Given the description of an element on the screen output the (x, y) to click on. 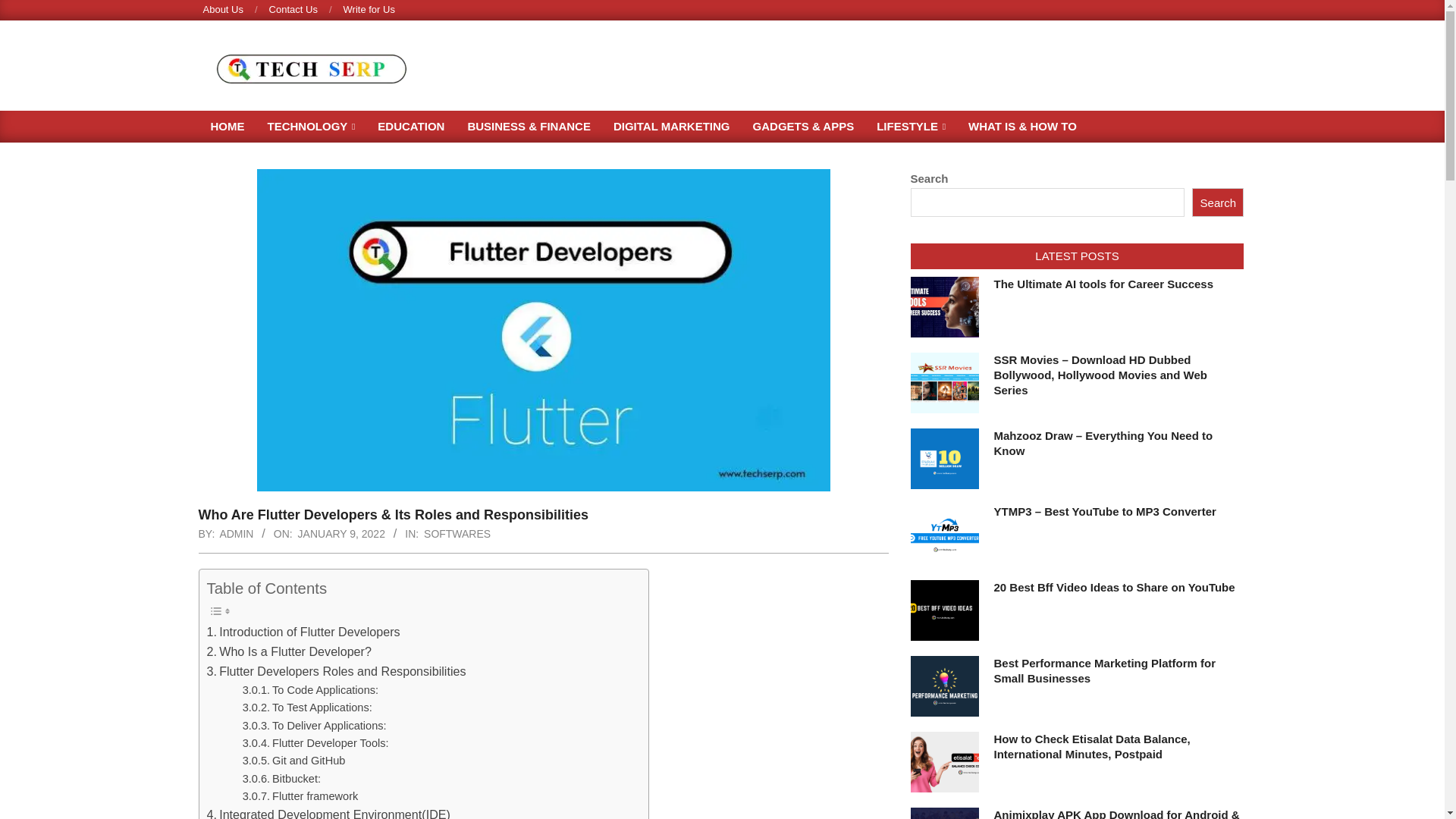
Introduction of Flutter Developers (302, 632)
EDUCATION (410, 126)
Git and GitHub (294, 760)
Flutter Developer Tools: (315, 743)
Sunday, January 9, 2022, 6:00 am (341, 533)
To Code Applications: (310, 690)
Introduction of Flutter Developers (302, 632)
Flutter Developer Tools: (315, 743)
LIFESTYLE (910, 126)
Flutter Developers Roles and Responsibilities (335, 671)
